Given the description of an element on the screen output the (x, y) to click on. 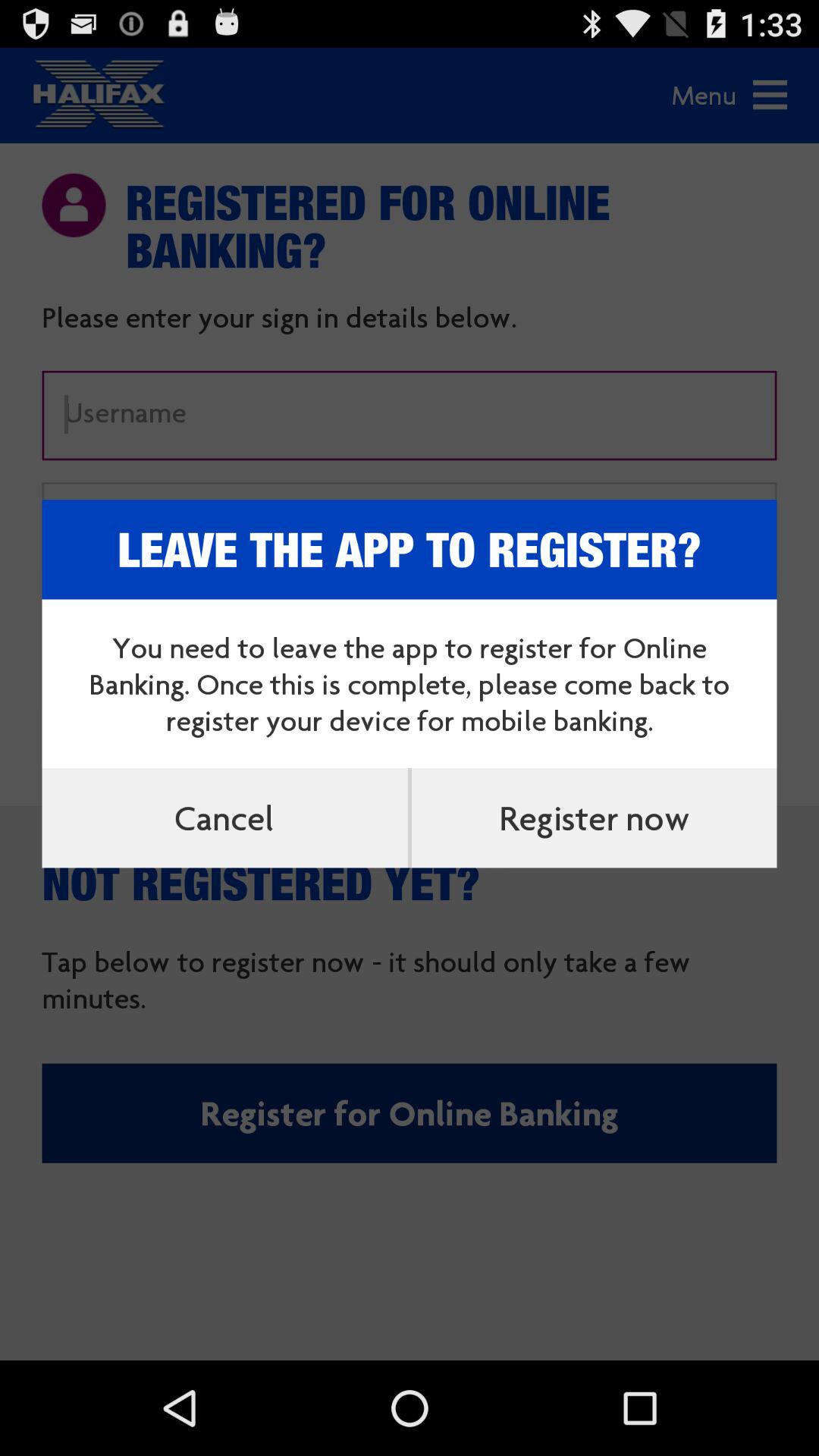
tap register now on the right (593, 817)
